Given the description of an element on the screen output the (x, y) to click on. 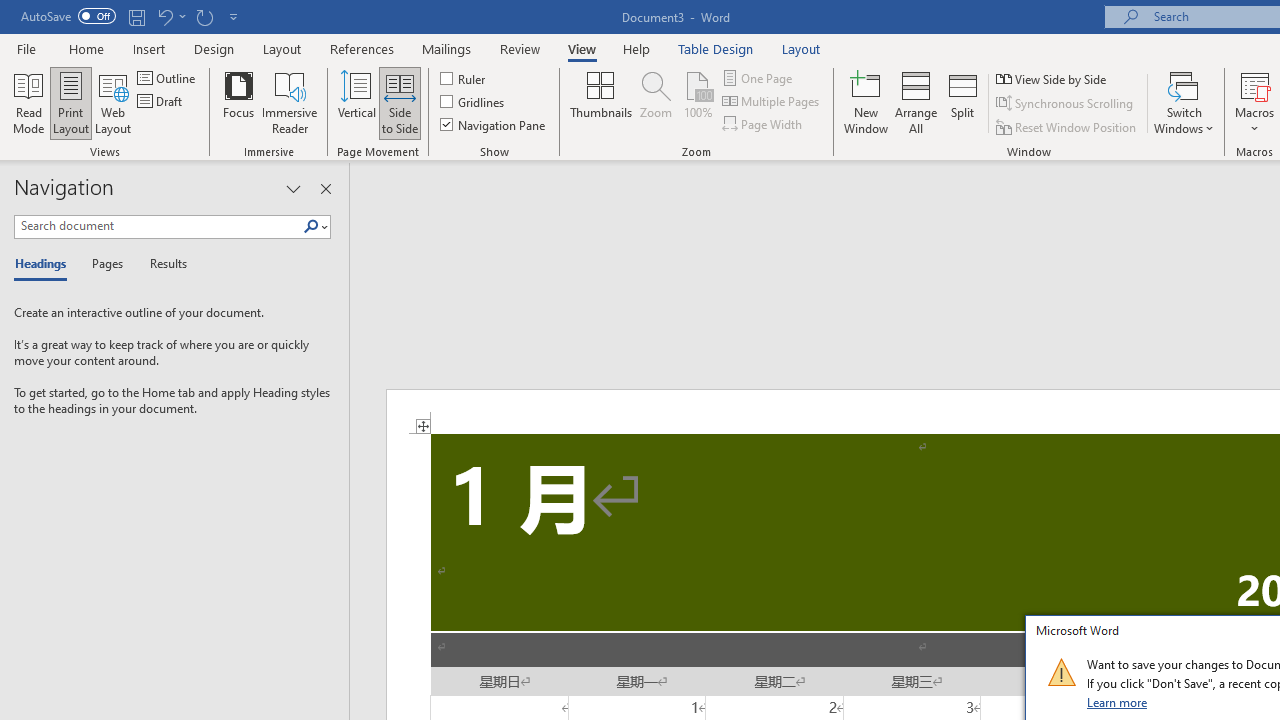
Ruler (463, 78)
Zoom... (655, 102)
Learn more (1118, 702)
Side to Side (399, 102)
One Page (758, 78)
Arrange All (916, 102)
